Given the description of an element on the screen output the (x, y) to click on. 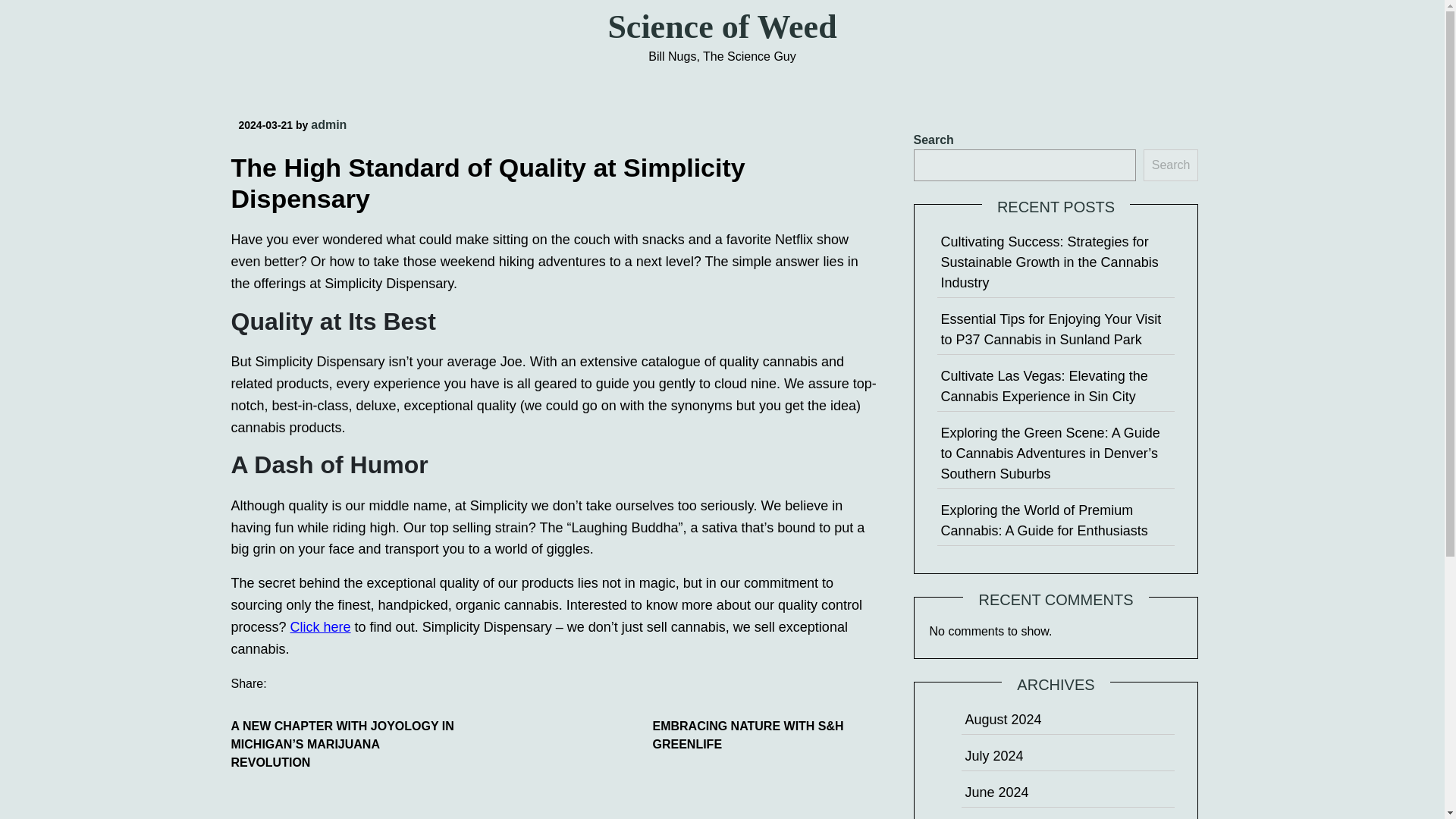
Posts by admin (328, 124)
Science of Weed (721, 26)
Click here (319, 626)
June 2024 (995, 792)
August 2024 (1002, 719)
Search (1170, 164)
admin (328, 124)
